Given the description of an element on the screen output the (x, y) to click on. 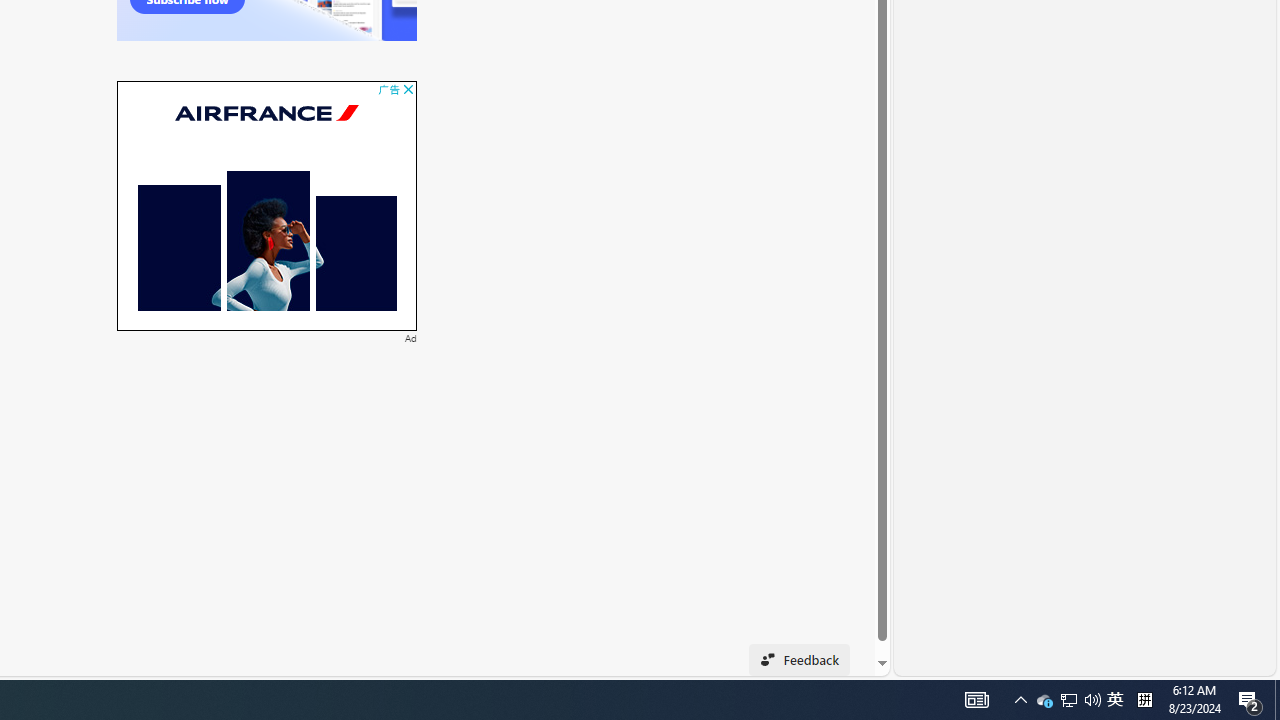
AutomationID: cbb (408, 89)
